Given the description of an element on the screen output the (x, y) to click on. 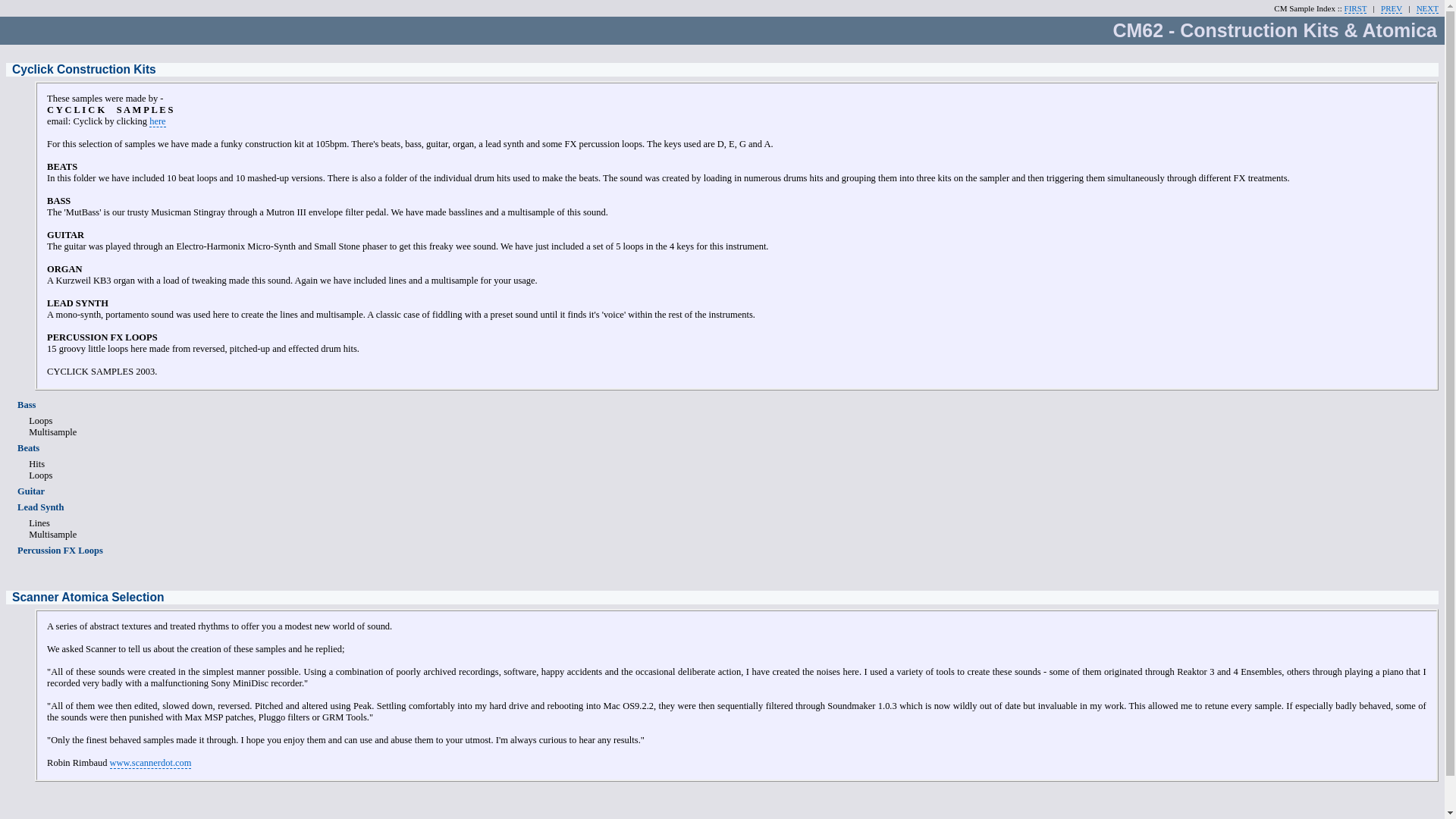
www.scannerdot.com (151, 763)
FIRST (1355, 8)
NEXT (1427, 8)
PREV (1391, 8)
here (157, 121)
